Given the description of an element on the screen output the (x, y) to click on. 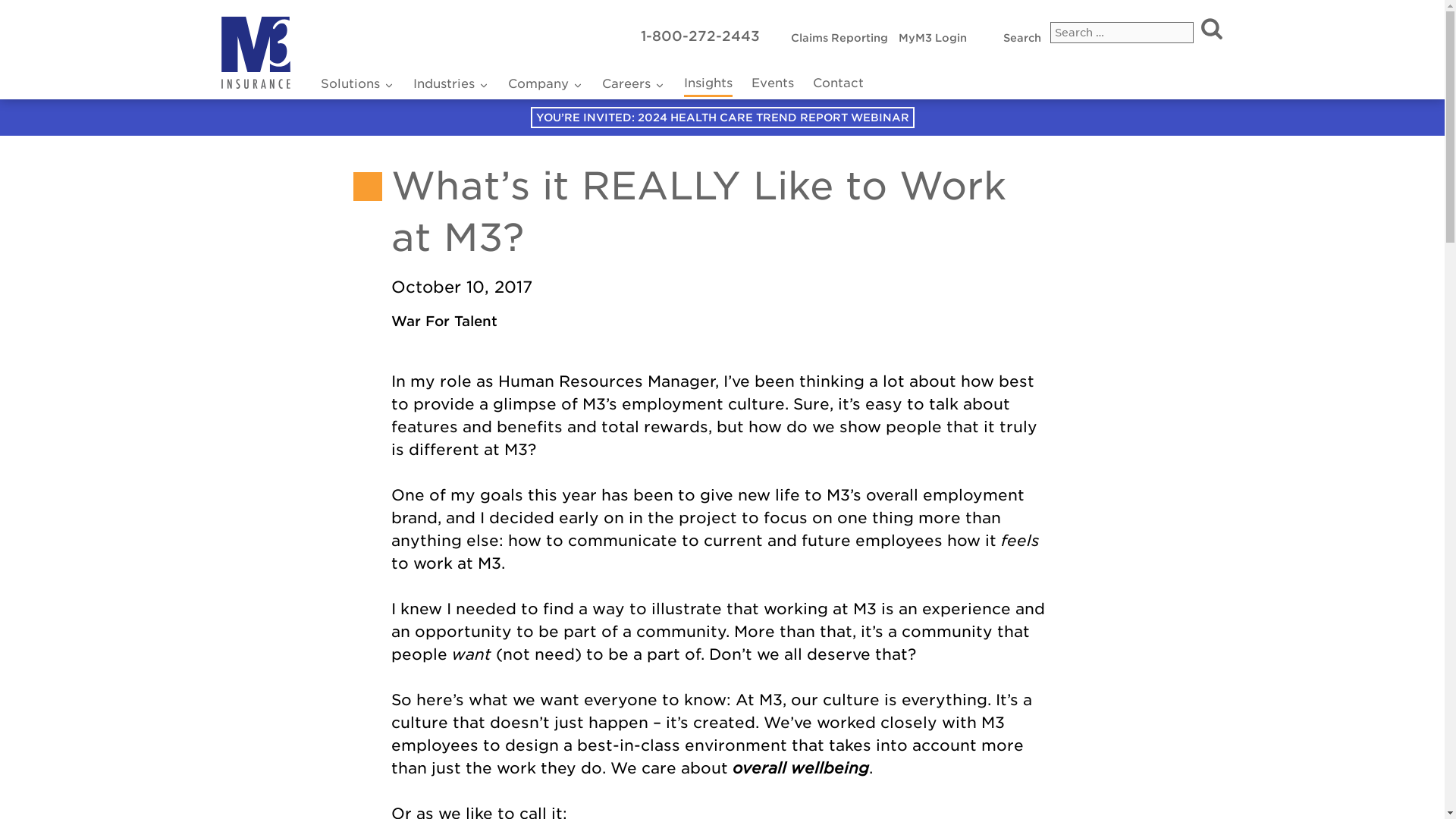
1-800-272-2443 (700, 35)
Claims Reporting (449, 85)
search (839, 37)
MyM3 Login (1211, 27)
